Given the description of an element on the screen output the (x, y) to click on. 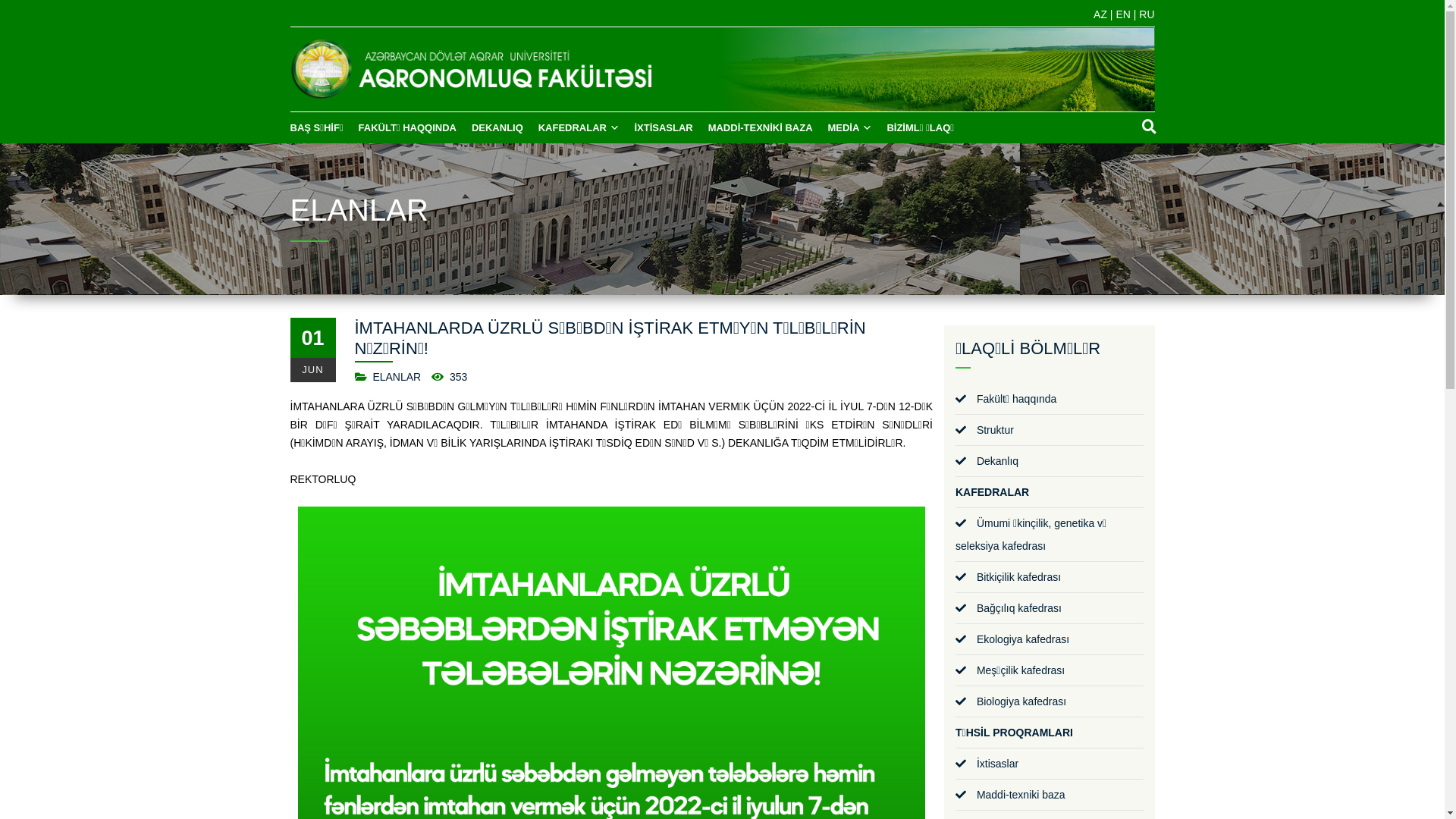
Struktur Element type: text (984, 429)
EN Element type: text (1123, 14)
RU Element type: text (1146, 14)
DEKANLIQ Element type: text (493, 143)
Skip to content Element type: text (0, 0)
AZ Element type: text (1101, 14)
KAFEDRALAR Element type: text (574, 143)
Maddi-texniki baza Element type: text (1010, 794)
